Given the description of an element on the screen output the (x, y) to click on. 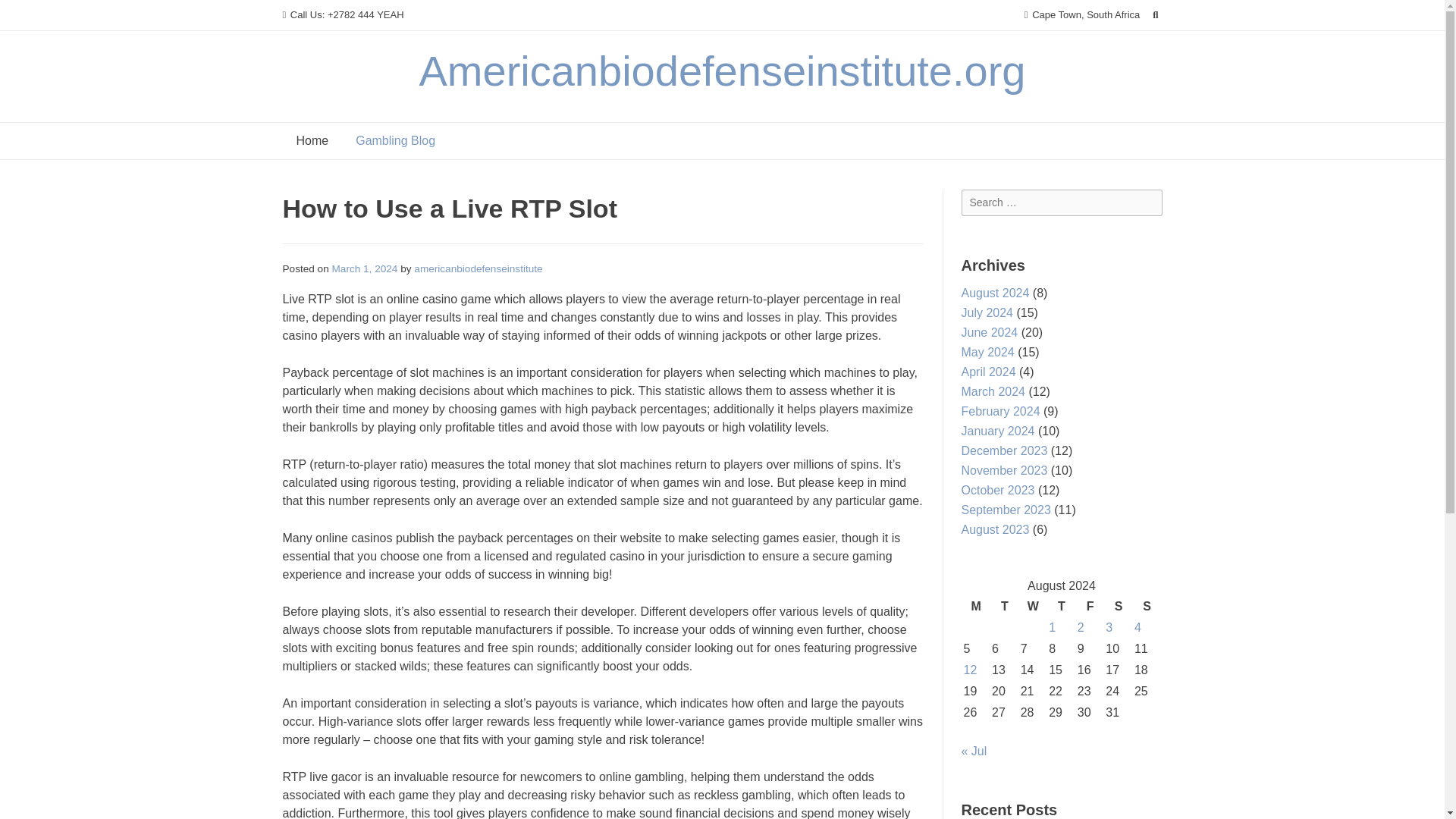
Gambling Blog (395, 140)
Search (27, 13)
July 2024 (986, 312)
November 2023 (1004, 470)
Americanbiodefenseinstitute.org (722, 70)
Saturday (1118, 606)
Home (312, 140)
americanbiodefenseinstitute (477, 268)
February 2024 (1000, 410)
Sunday (1147, 606)
